Given the description of an element on the screen output the (x, y) to click on. 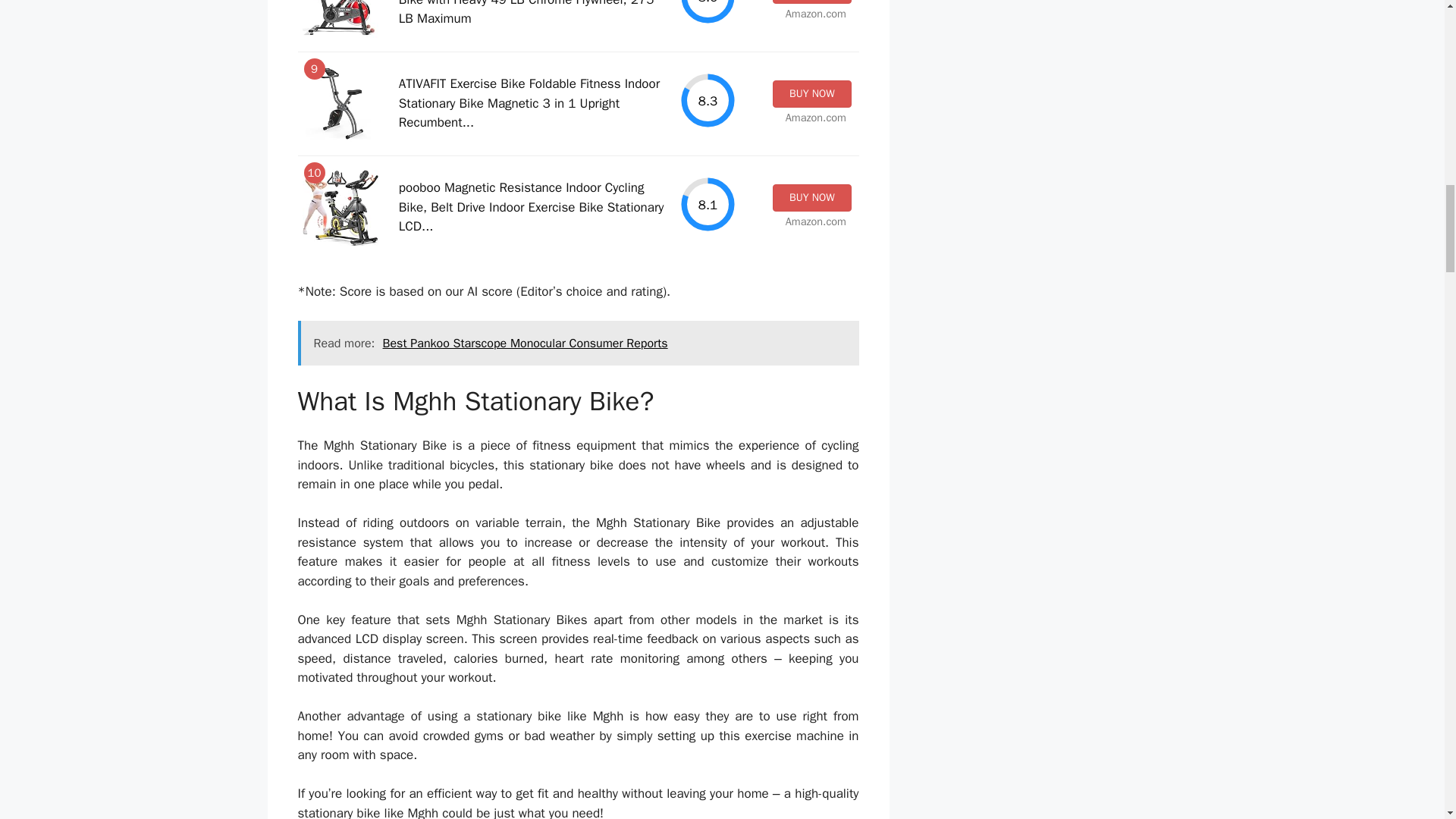
8.6 (707, 12)
8.1 (707, 204)
8.3 (707, 100)
